Given the description of an element on the screen output the (x, y) to click on. 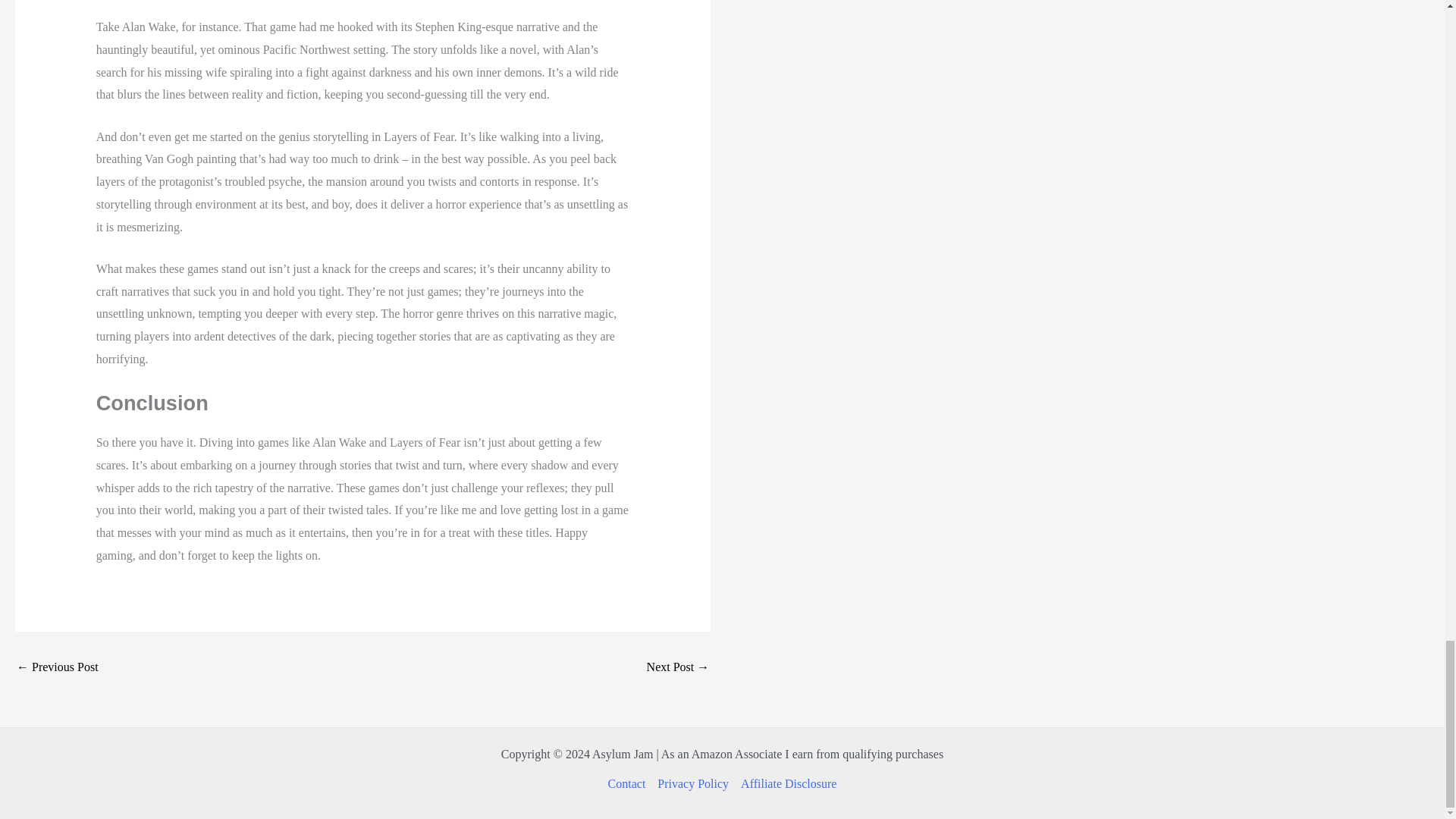
Privacy Policy (692, 784)
Is Cold Fear a PS2 Hidden Horror Gem? An In-Depth Look (678, 666)
Contact (630, 784)
Affiliate Disclosure (785, 784)
